Given the description of an element on the screen output the (x, y) to click on. 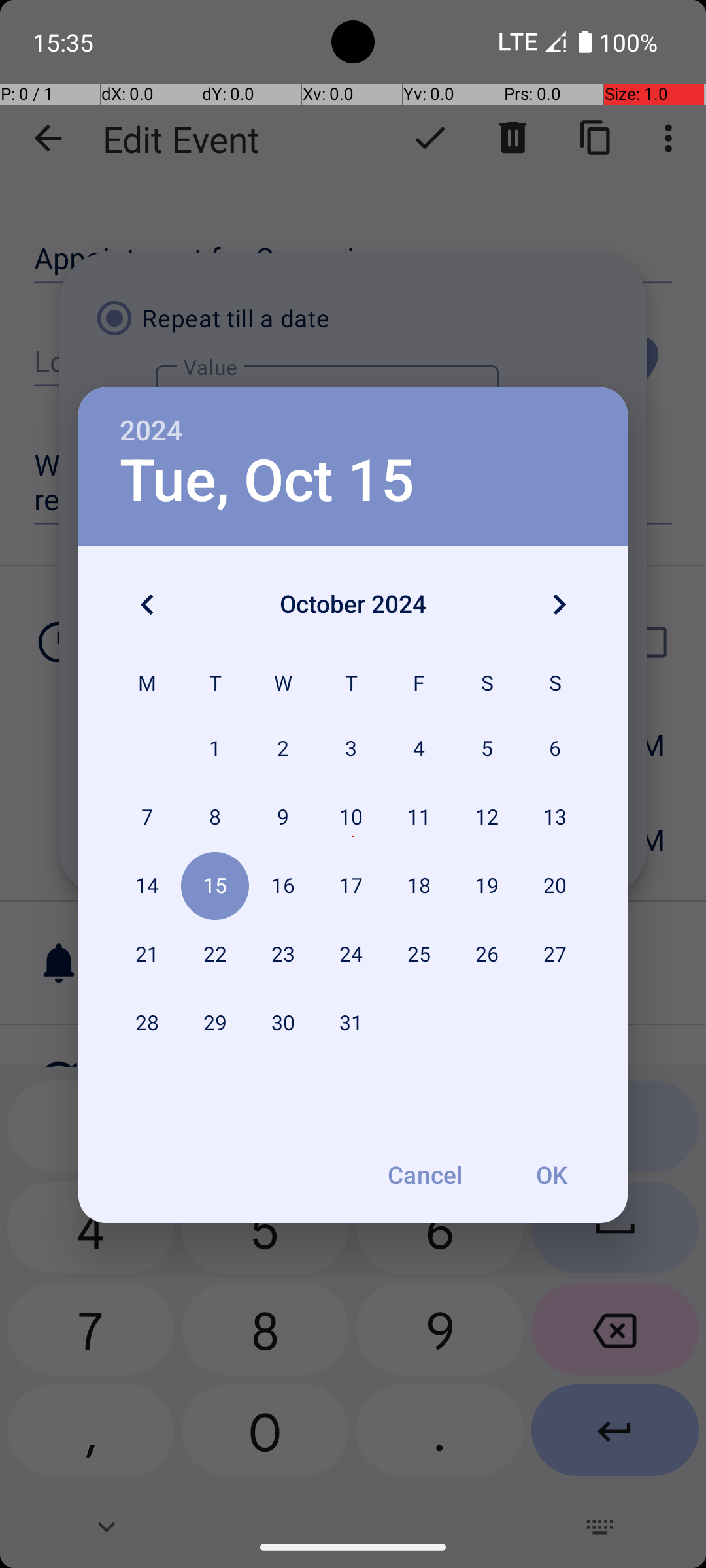
Tue, Oct 15 Element type: android.widget.TextView (267, 480)
